Given the description of an element on the screen output the (x, y) to click on. 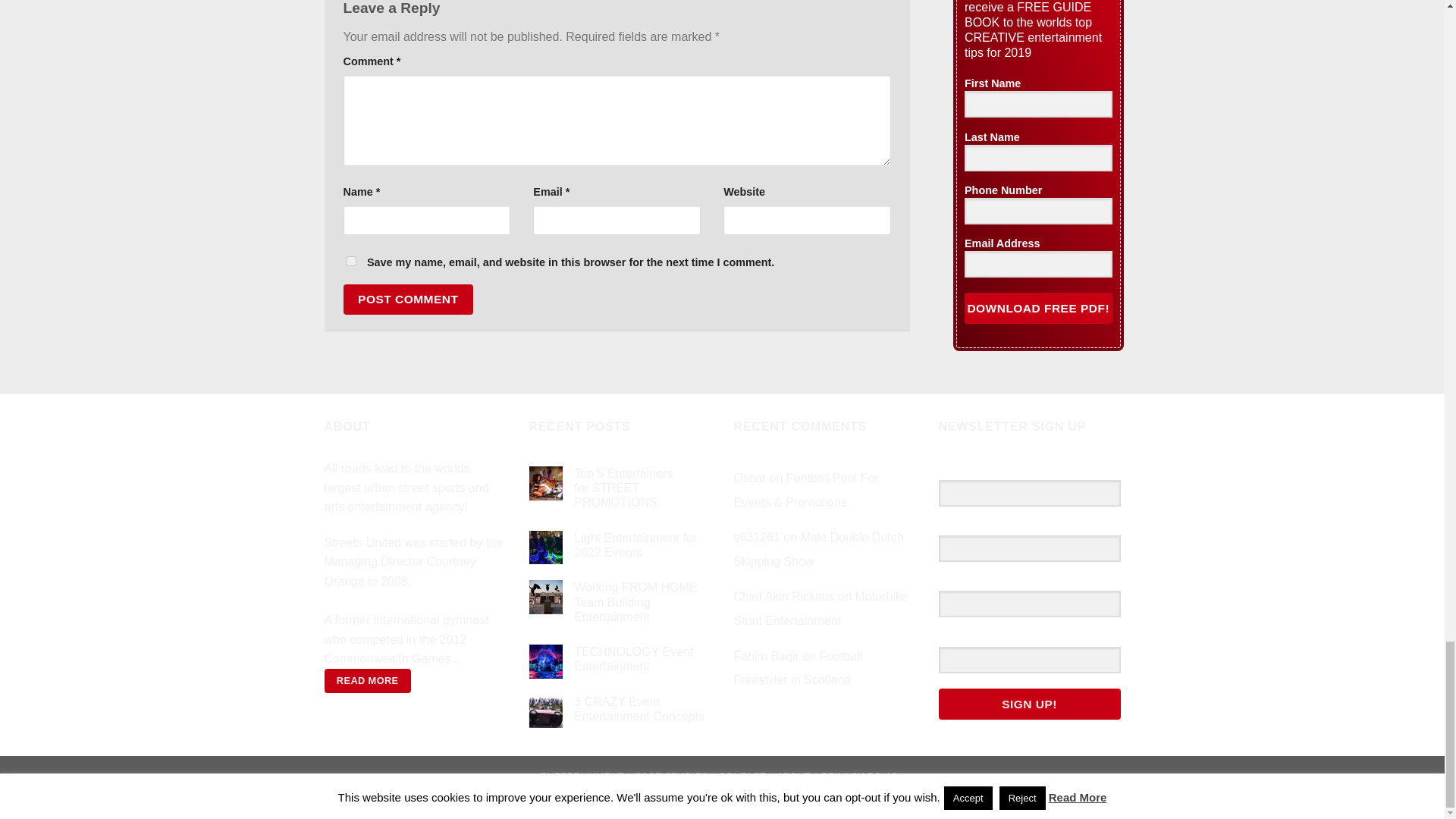
yes (350, 261)
Post Comment (407, 298)
